Given the description of an element on the screen output the (x, y) to click on. 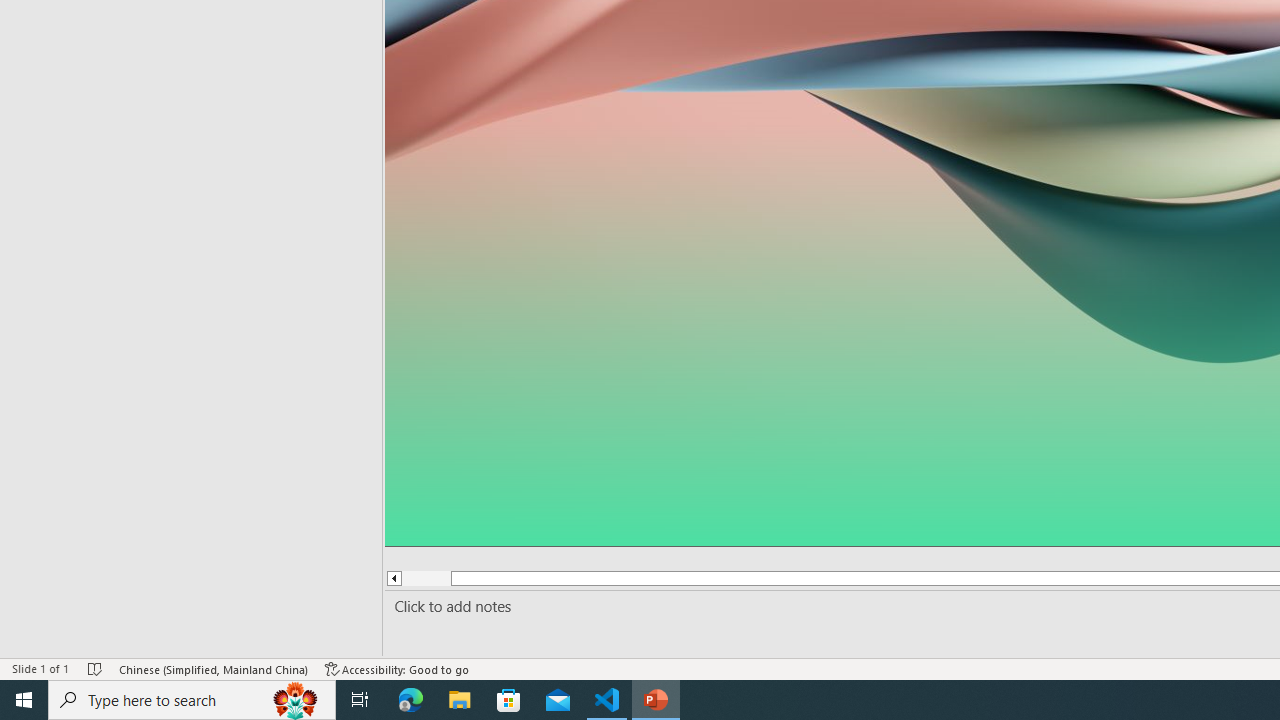
Page up (425, 578)
Accessibility Checker Accessibility: Good to go (397, 668)
Spell Check No Errors (95, 668)
Line up (393, 578)
